Given the description of an element on the screen output the (x, y) to click on. 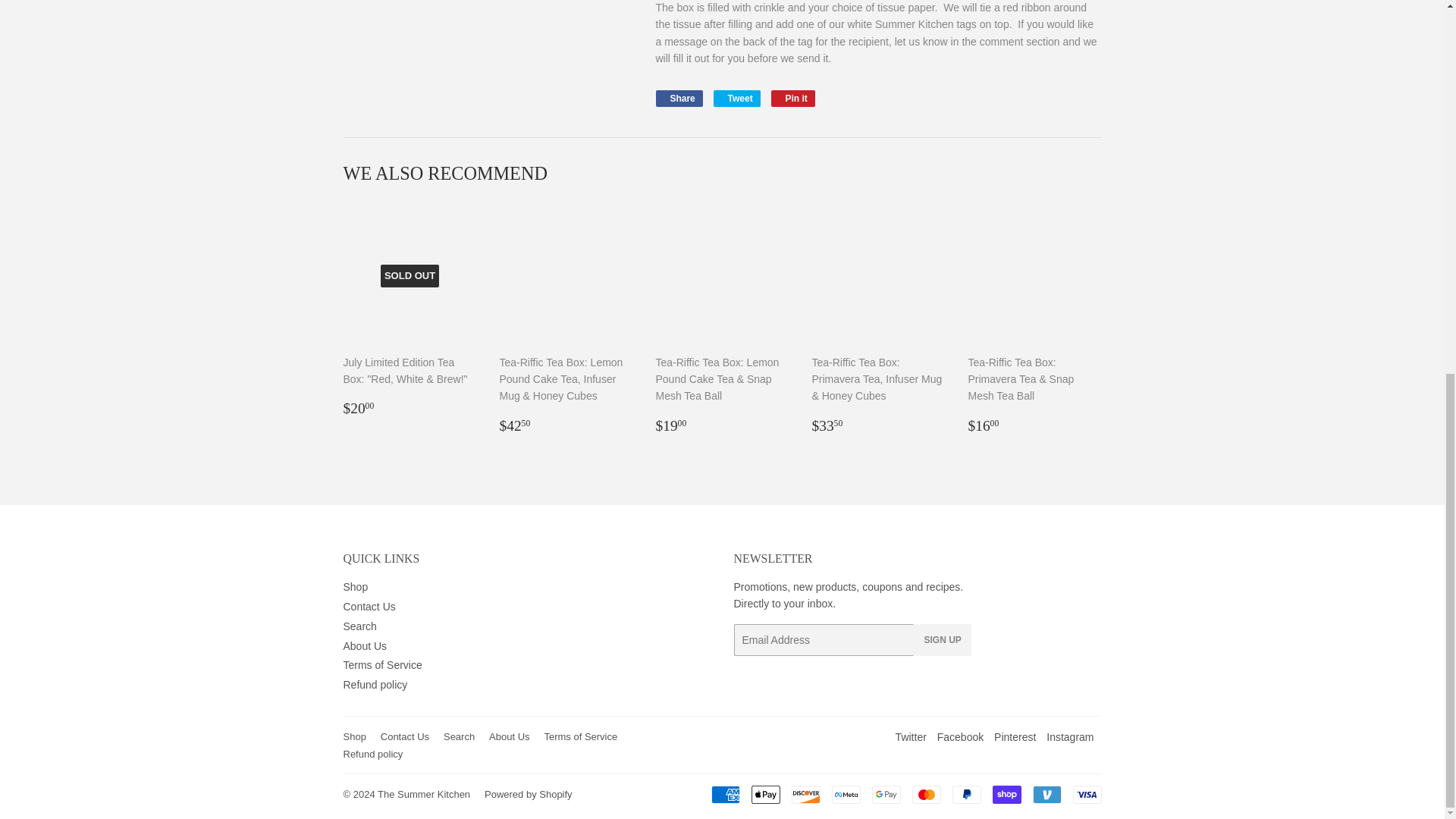
The Summer Kitchen on Twitter (910, 736)
Tweet on Twitter (736, 98)
Apple Pay (764, 794)
Share on Facebook (678, 98)
Meta Pay (845, 794)
Mastercard (925, 794)
PayPal (966, 794)
Visa (1085, 794)
American Express (725, 794)
Discover (806, 794)
The Summer Kitchen on Instagram (1069, 736)
Pin on Pinterest (793, 98)
Shop Pay (1005, 794)
The Summer Kitchen on Pinterest (1014, 736)
The Summer Kitchen on Facebook (960, 736)
